Given the description of an element on the screen output the (x, y) to click on. 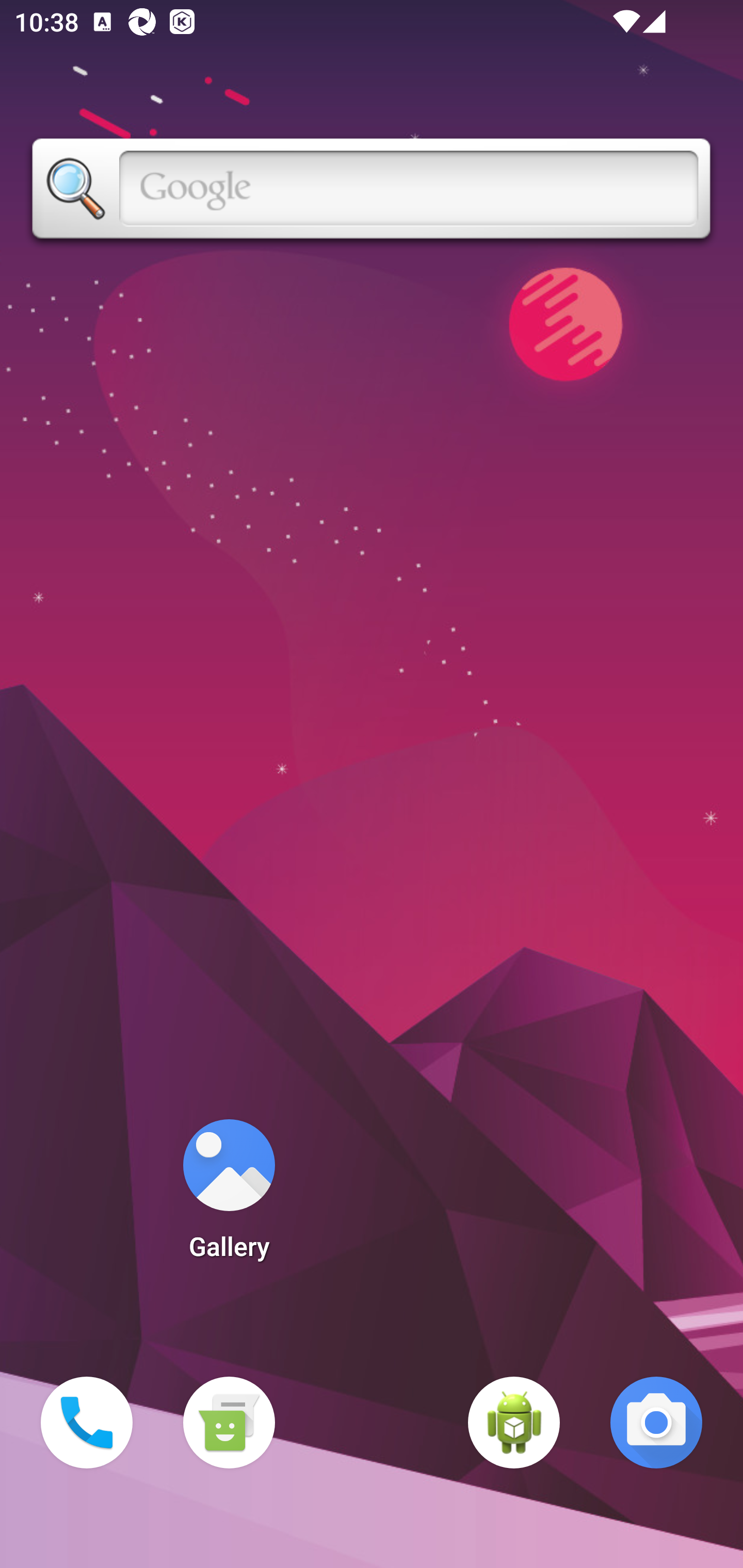
Gallery (228, 1195)
Phone (86, 1422)
Messaging (228, 1422)
WebView Browser Tester (513, 1422)
Camera (656, 1422)
